Given the description of an element on the screen output the (x, y) to click on. 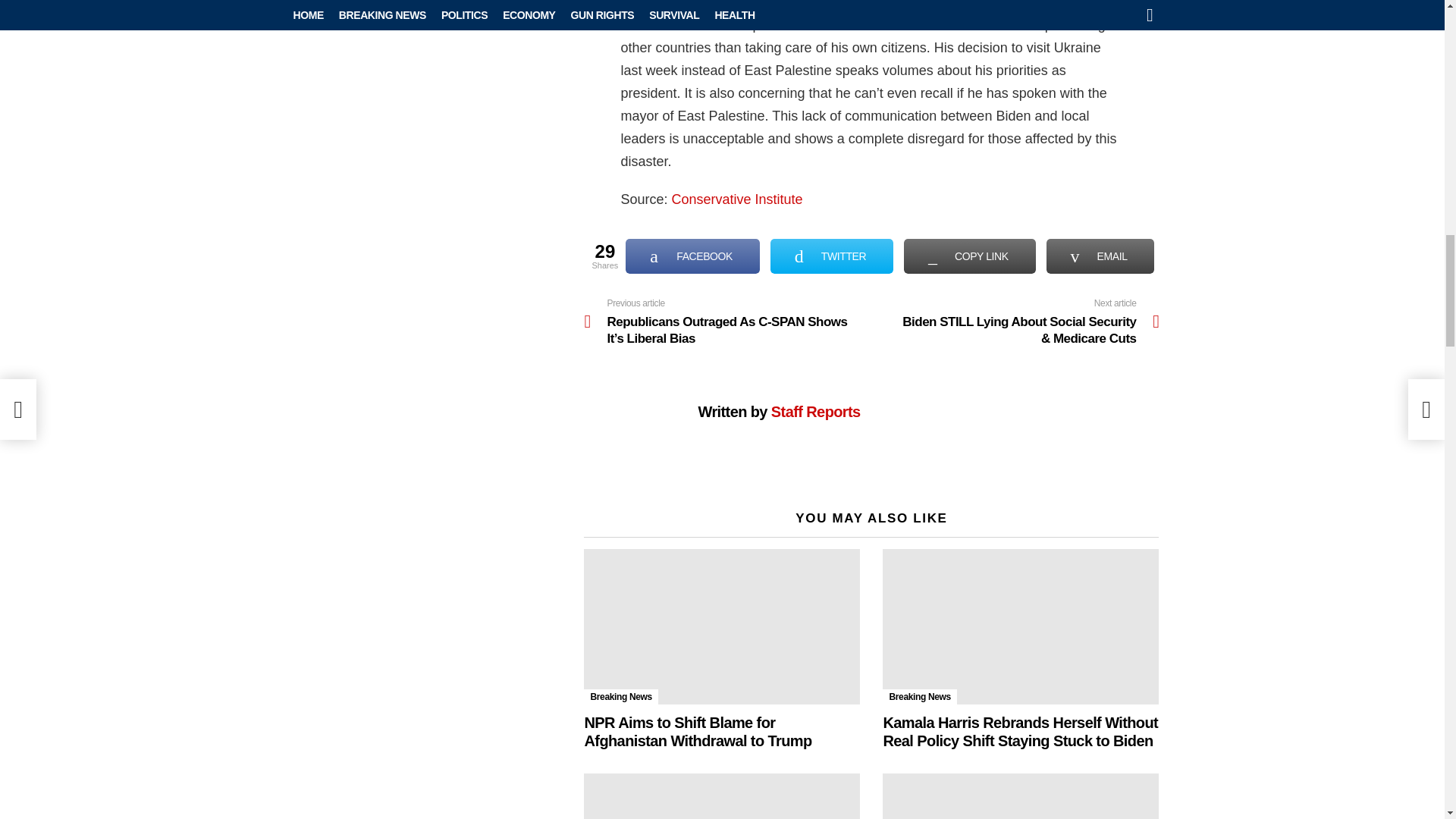
Share on Copy Link (969, 256)
Share on Twitter (831, 256)
Share on Email (1100, 256)
NPR Aims to Shift Blame for Afghanistan Withdrawal to Trump (721, 626)
Share on Facebook (693, 256)
